Given the description of an element on the screen output the (x, y) to click on. 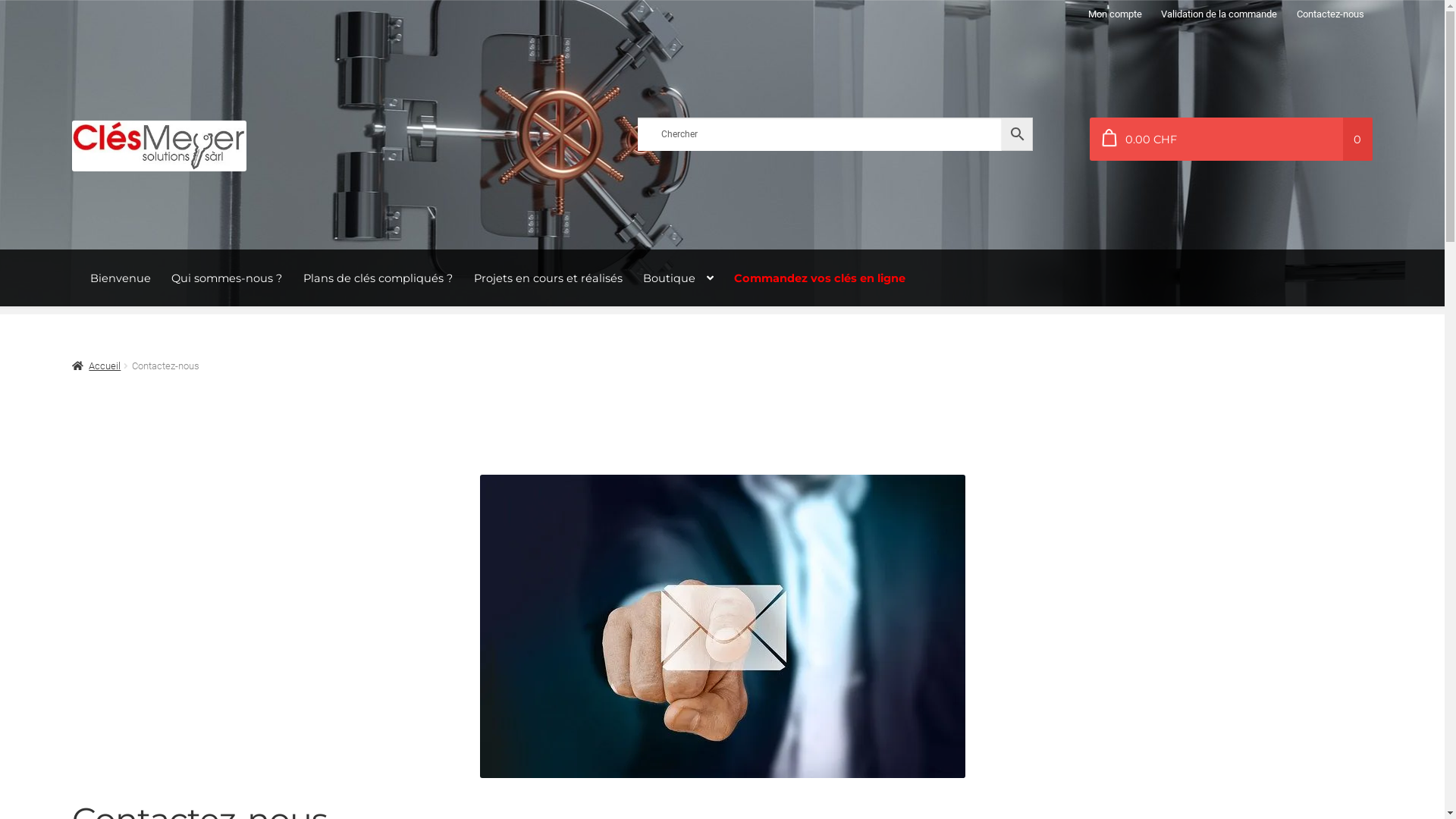
Accueil Element type: text (96, 365)
0.00 CHF
0 Element type: text (1230, 138)
Boutique Element type: text (678, 277)
Bienvenue Element type: text (120, 277)
Validation de la commande Element type: text (1218, 14)
Contactez-nous Element type: text (1329, 14)
Qui sommes-nous ? Element type: text (226, 277)
Mon compte Element type: text (1114, 14)
